Given the description of an element on the screen output the (x, y) to click on. 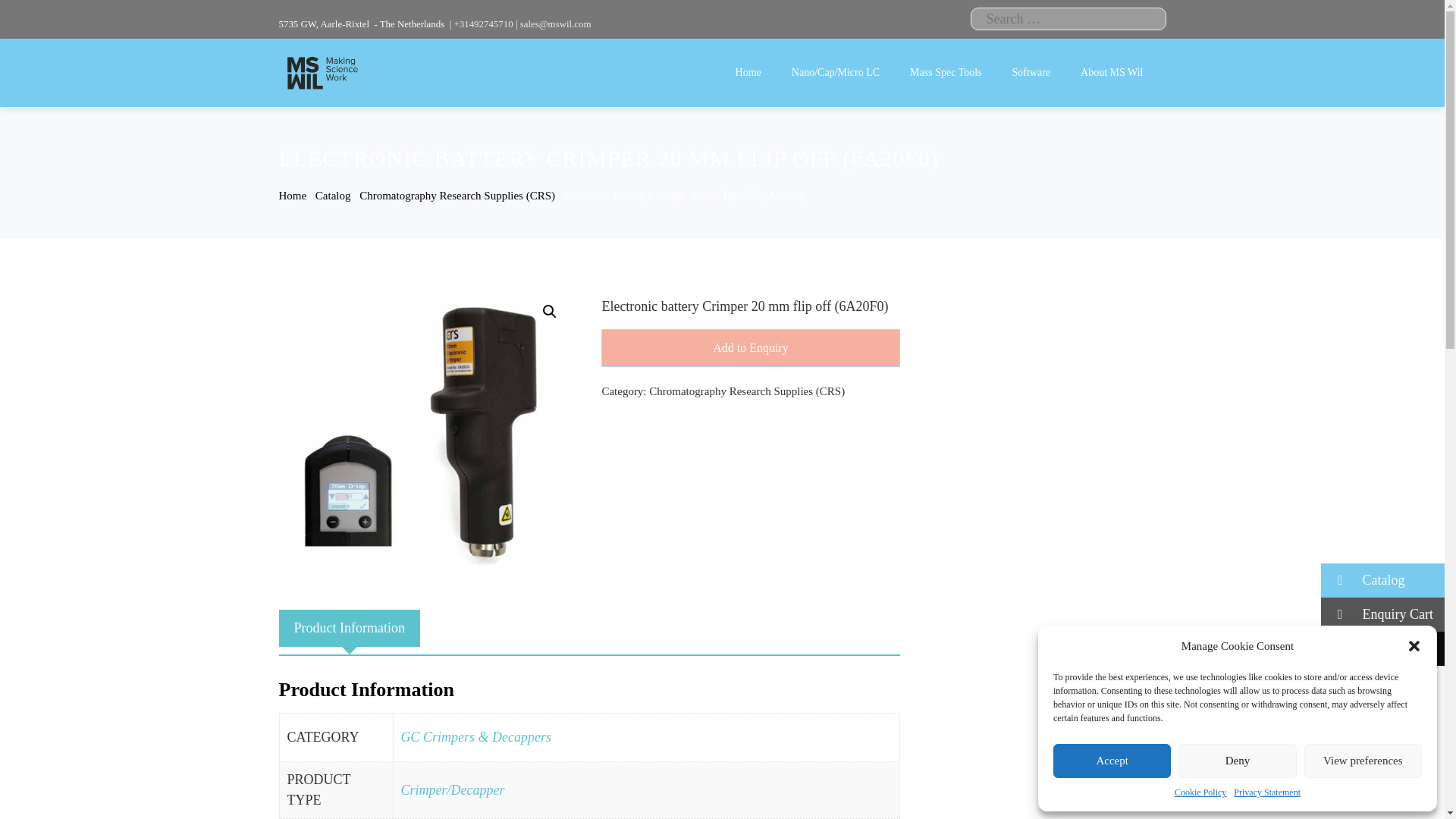
Privacy Statement (1266, 792)
Search (37, 18)
View preferences (1363, 760)
Electronic Battery crimping tools (427, 433)
Deny (1236, 760)
Cookie Policy (1199, 792)
Accept (1111, 760)
